Given the description of an element on the screen output the (x, y) to click on. 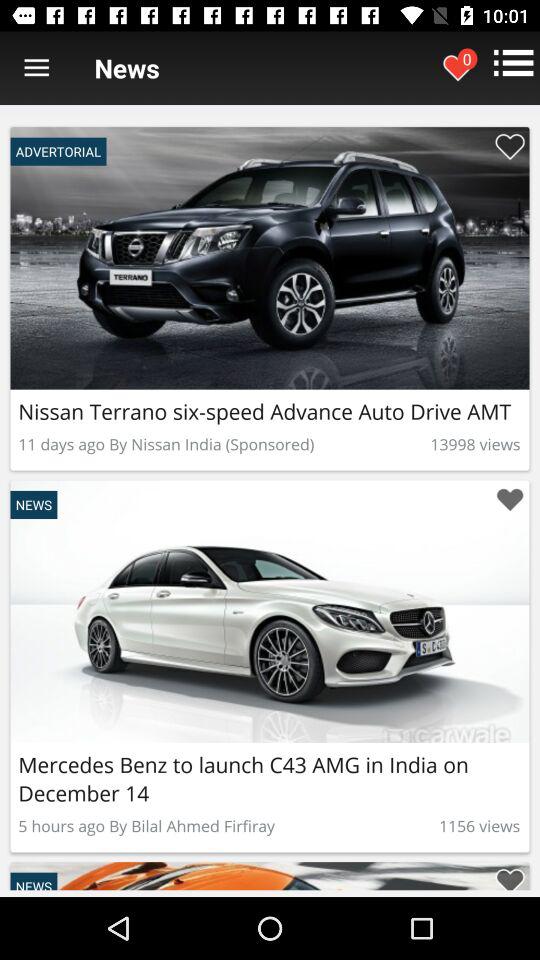
turn off item next to news (36, 68)
